Given the description of an element on the screen output the (x, y) to click on. 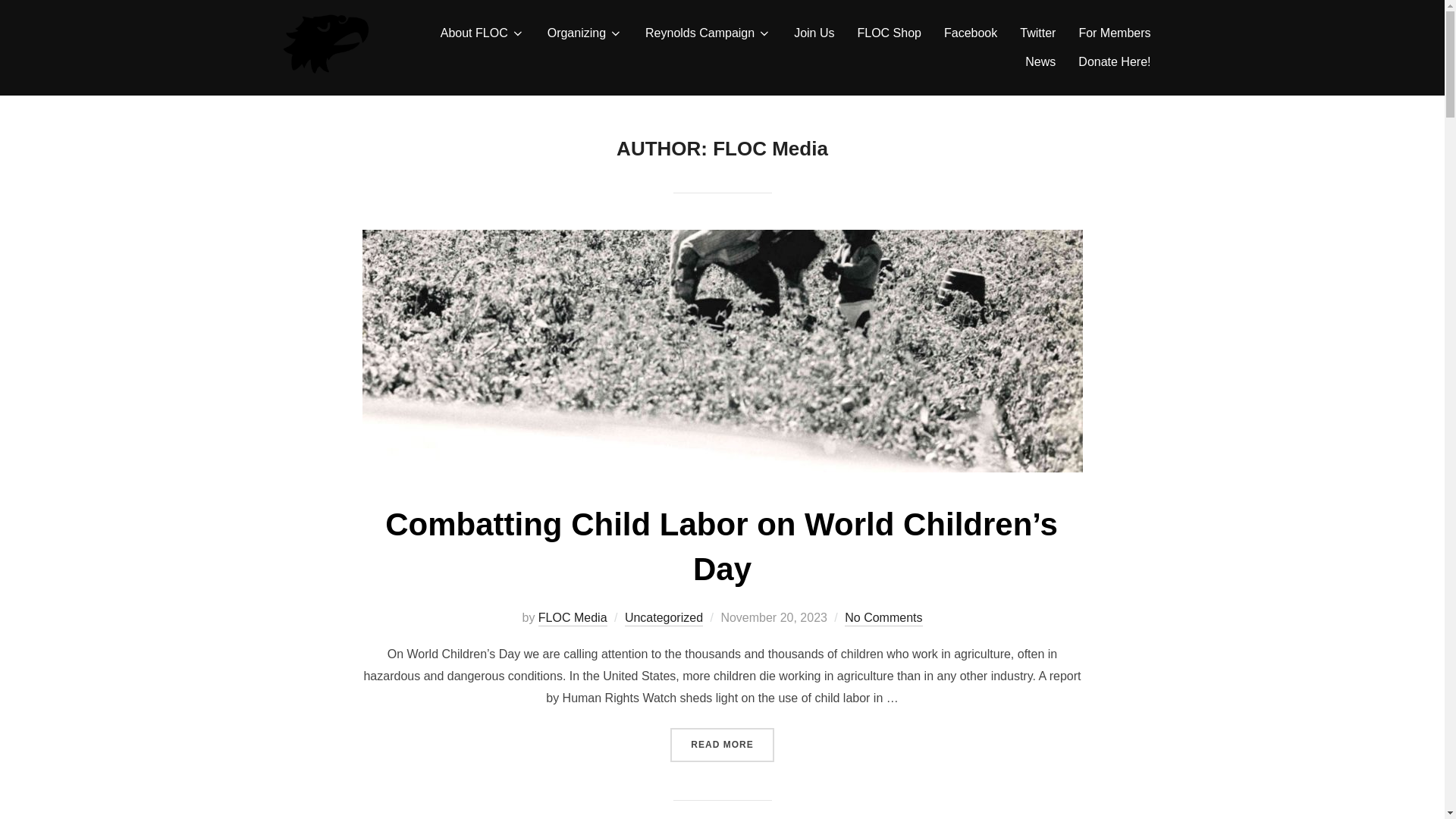
About FLOC (482, 32)
